Given the description of an element on the screen output the (x, y) to click on. 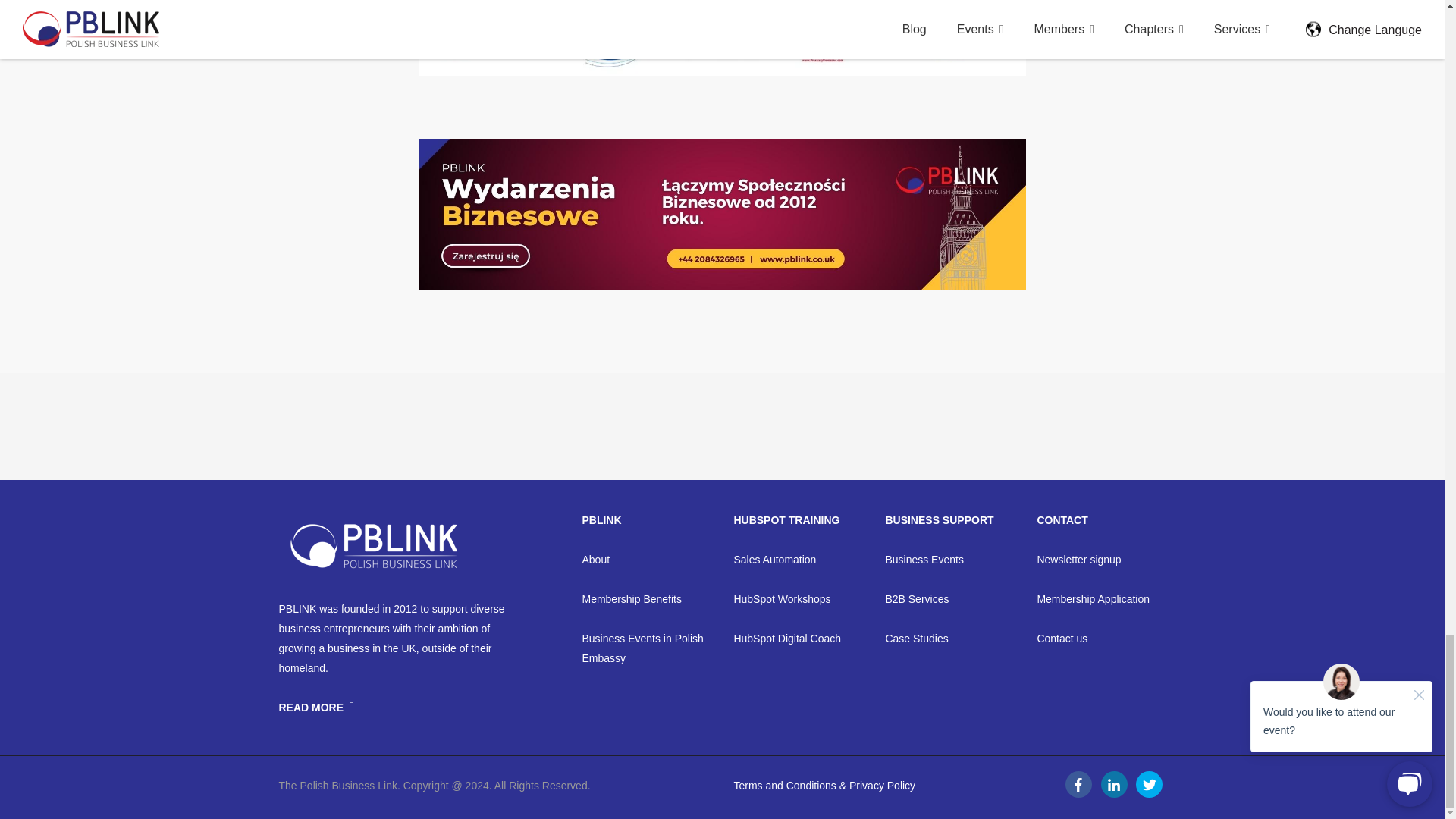
pblink-logo-white (373, 544)
